Given the description of an element on the screen output the (x, y) to click on. 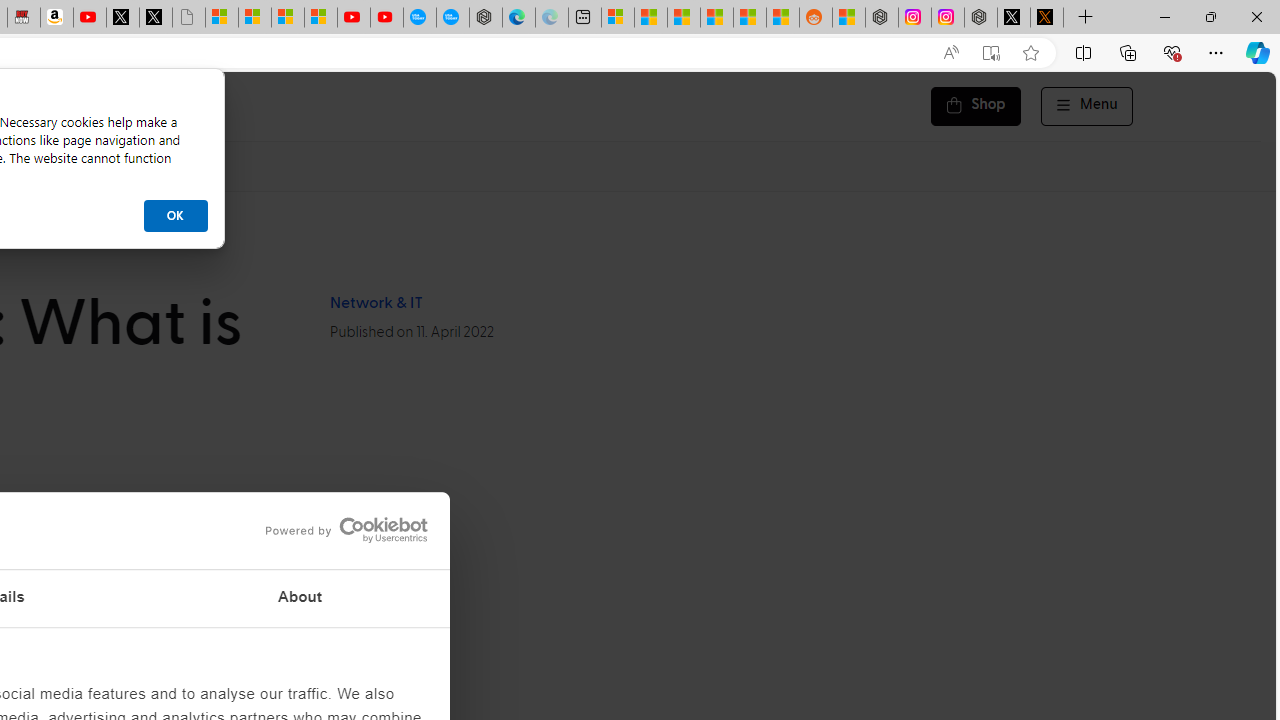
OK (175, 215)
